Given the description of an element on the screen output the (x, y) to click on. 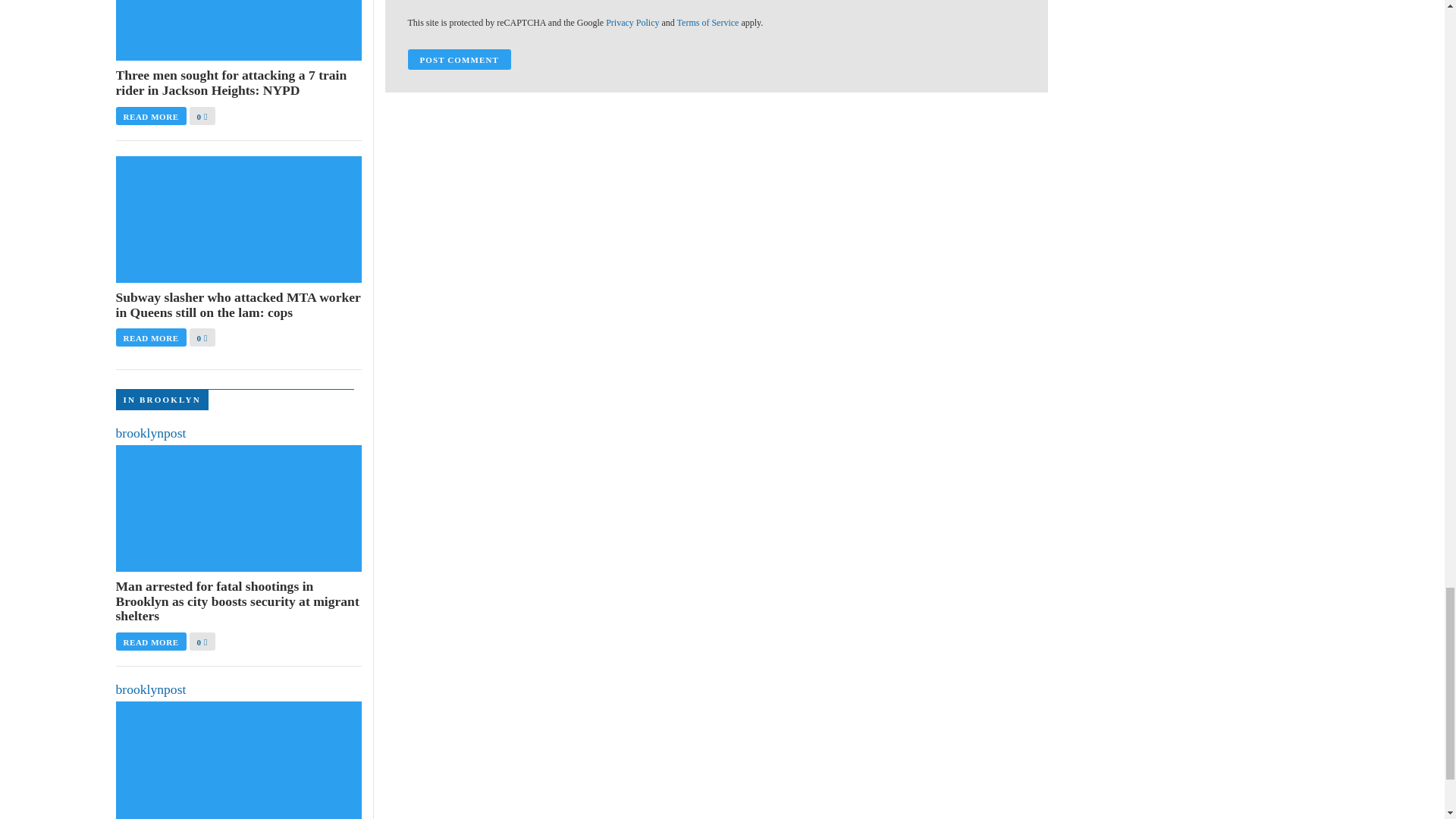
Post Comment (459, 59)
